Given the description of an element on the screen output the (x, y) to click on. 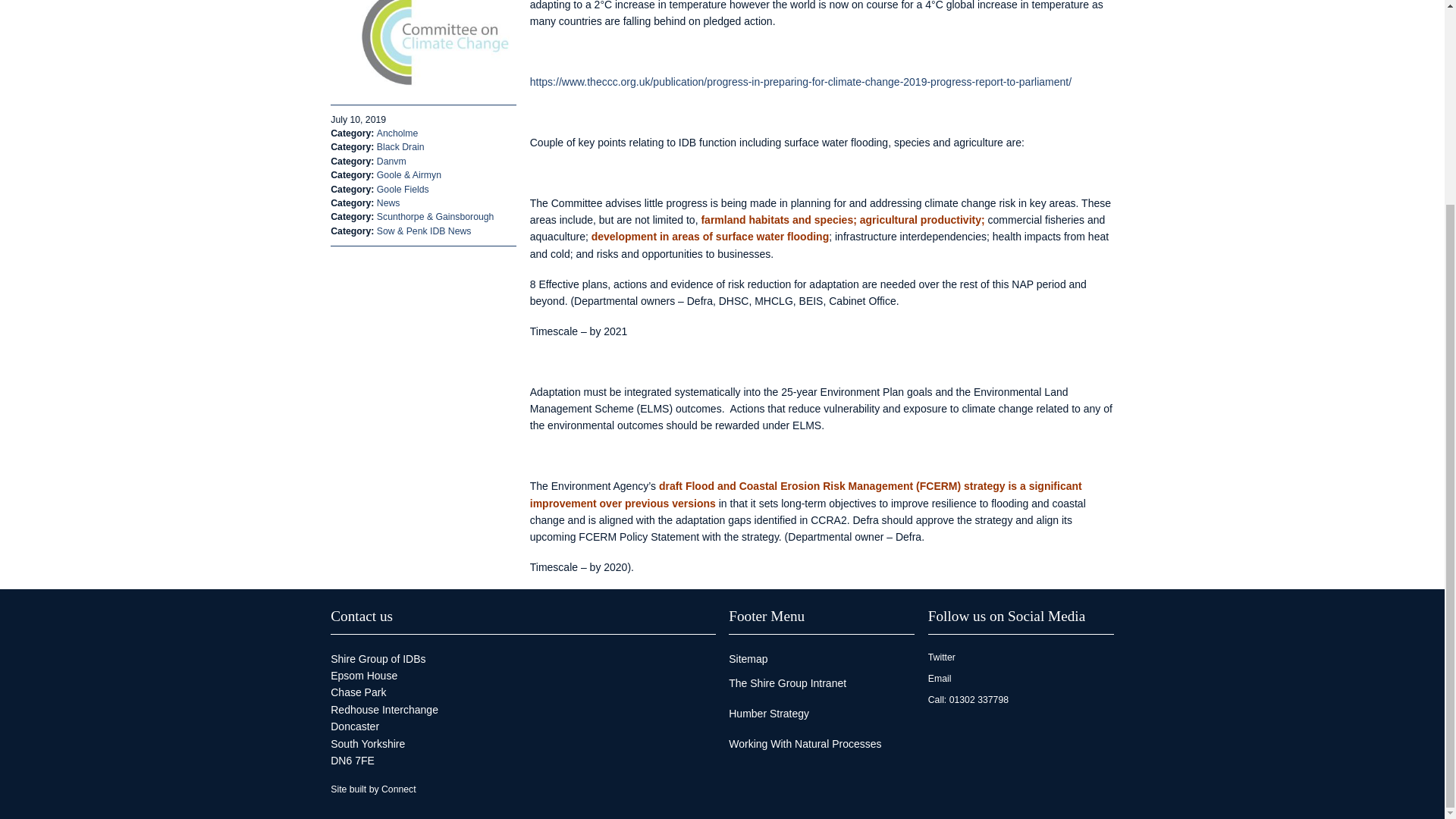
Goole Fields (403, 189)
Working With Natural Processes (821, 743)
Connect (398, 789)
The Shire Group Intranet (821, 682)
Sitemap (821, 658)
News (388, 203)
Ancholme (397, 132)
Danvm (391, 161)
Call: 01302 337798 (1020, 699)
Black Drain (401, 146)
